Given the description of an element on the screen output the (x, y) to click on. 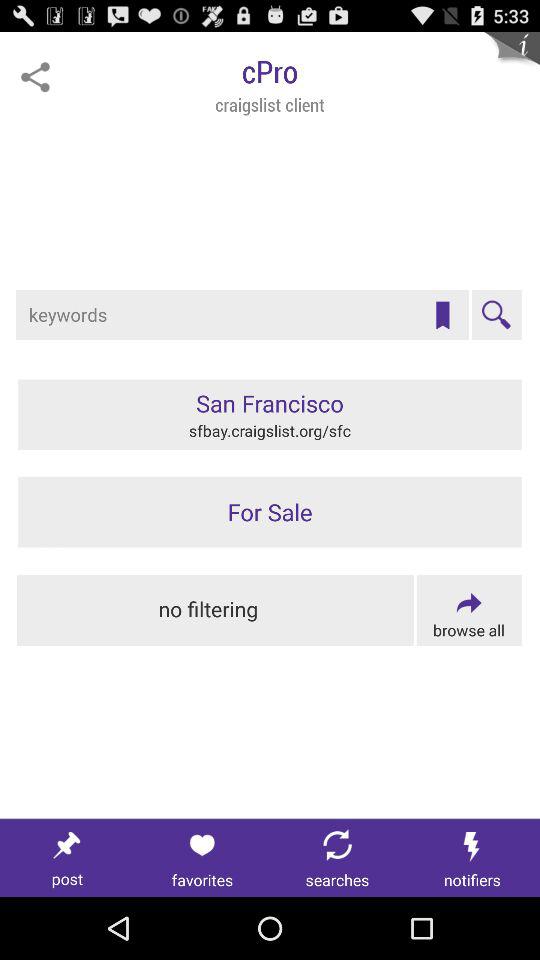
remove search filters (215, 610)
